Given the description of an element on the screen output the (x, y) to click on. 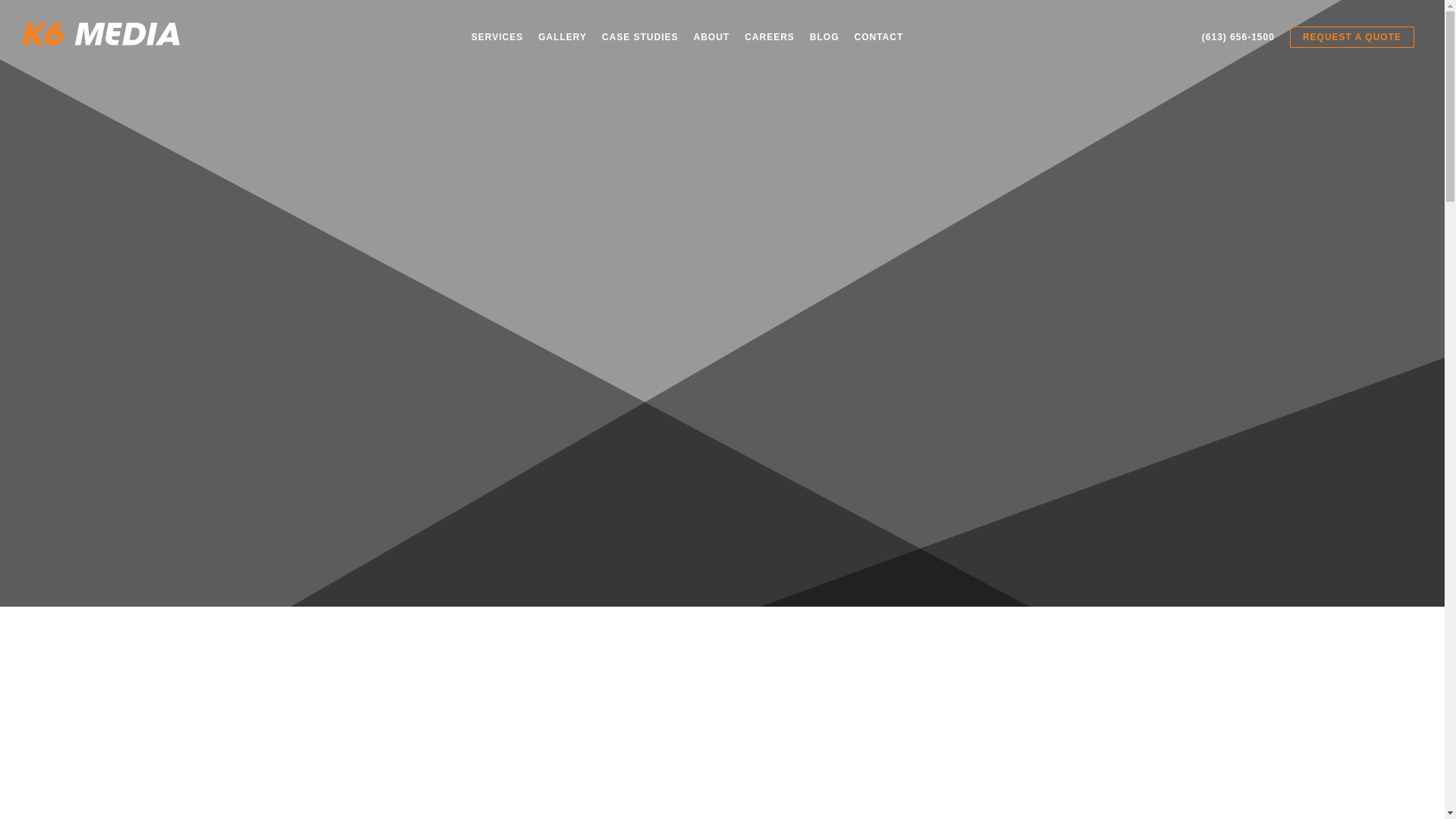
REQUEST A QUOTE (1351, 36)
CONTACT (879, 36)
CAREERS (769, 36)
GALLERY (562, 36)
CASE STUDIES (640, 36)
ABOUT (711, 36)
SERVICES (496, 36)
BLOG (824, 36)
